Given the description of an element on the screen output the (x, y) to click on. 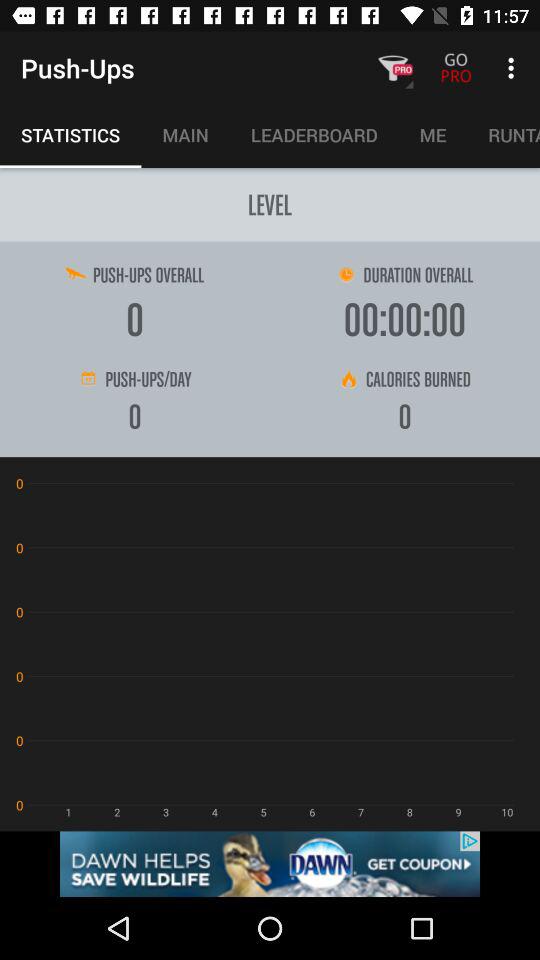
follow the banner (270, 864)
